Given the description of an element on the screen output the (x, y) to click on. 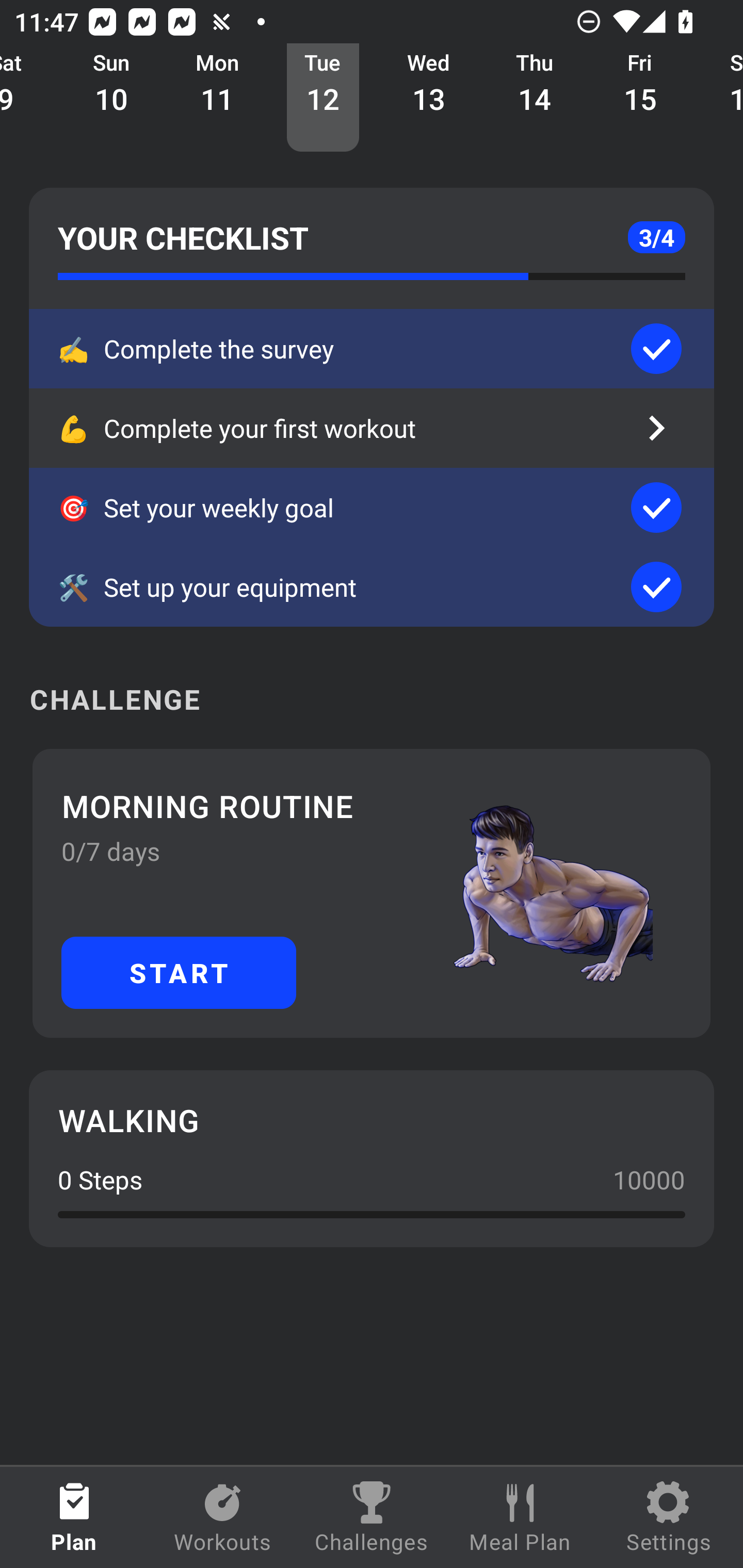
Sun 10 (111, 97)
Mon 11 (217, 97)
Tue 12 (322, 97)
Wed 13 (428, 97)
Thu 14 (534, 97)
Fri 15 (640, 97)
💪 Complete your first workout (371, 427)
MORNING ROUTINE 0/7 days START (371, 892)
START (178, 972)
WALKING 0 Steps 10000 0.0 (371, 1158)
 Workouts  (222, 1517)
 Challenges  (371, 1517)
 Meal Plan  (519, 1517)
 Settings  (668, 1517)
